Given the description of an element on the screen output the (x, y) to click on. 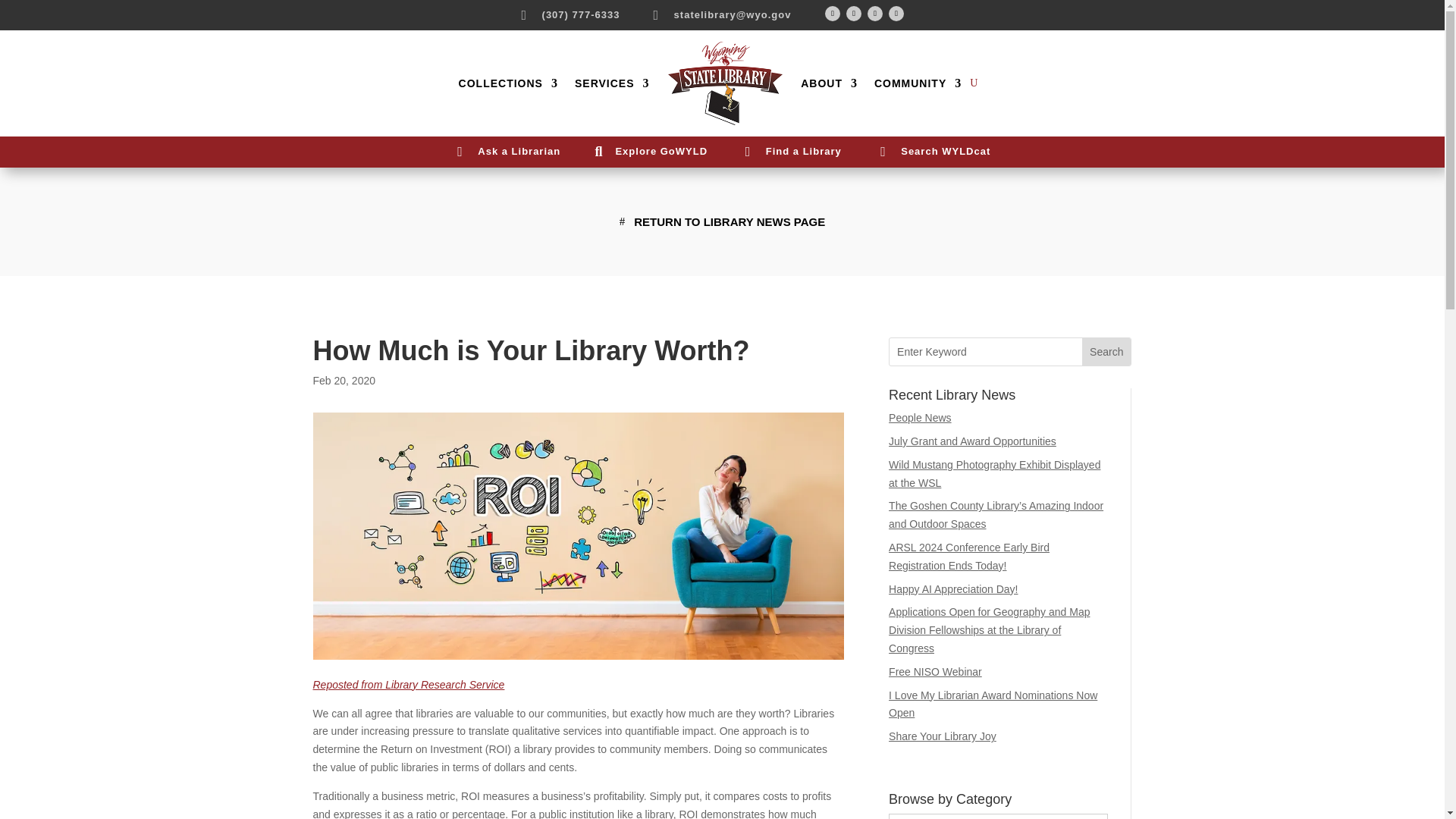
Youtube (874, 13)
Facebook (832, 13)
COLLECTIONS (507, 83)
Search (1106, 351)
Search (1106, 351)
Follow on Facebook (832, 13)
SERVICES (612, 83)
COMMUNITY (917, 83)
Follow on Youtube (874, 13)
Follow on X (853, 13)
Follow on LinkedIn (896, 13)
Twitter (853, 13)
Linkedin (896, 13)
